Given the description of an element on the screen output the (x, y) to click on. 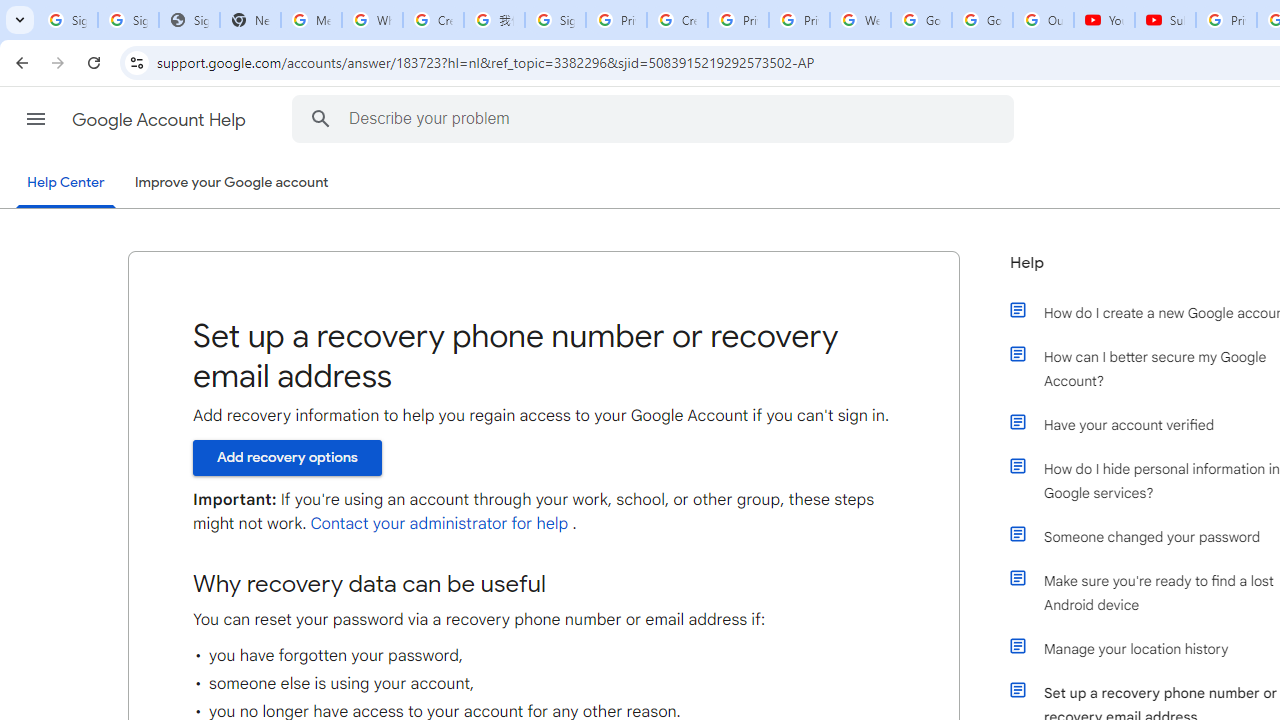
YouTube (1104, 20)
Contact your administrator for help (439, 524)
Help Center (65, 183)
Search the Help Center (320, 118)
Who is my administrator? - Google Account Help (372, 20)
Subscriptions - YouTube (1165, 20)
Google Account (982, 20)
Improve your Google account (231, 183)
